Given the description of an element on the screen output the (x, y) to click on. 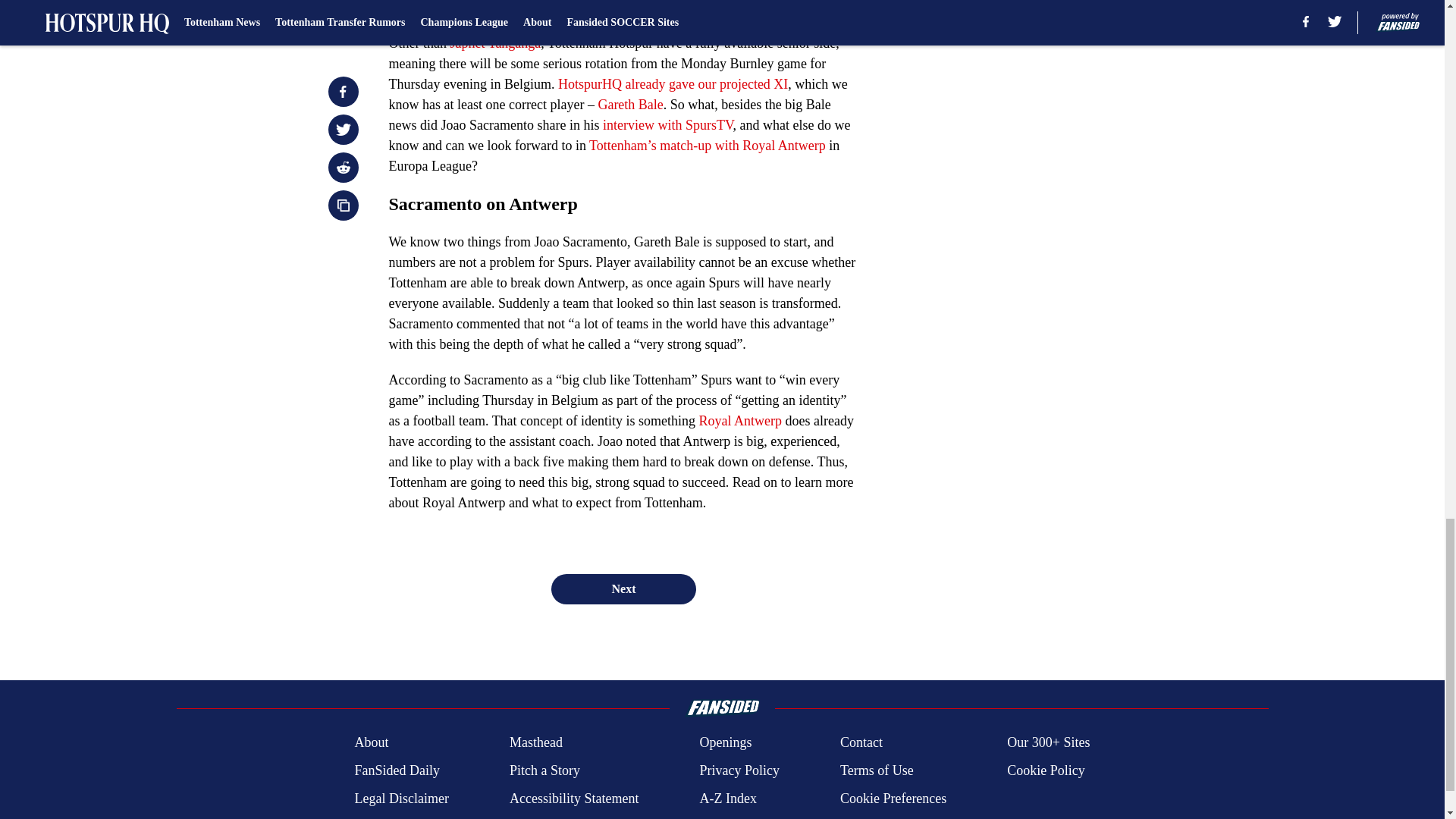
Next (622, 589)
Terms of Use (877, 770)
HotspurHQ already gave our projected XI (672, 83)
Cookie Policy (1045, 770)
Royal Antwerp (740, 420)
A-Z Index (726, 798)
Privacy Policy (738, 770)
FanSided Daily (396, 770)
Masthead (535, 742)
Pitch a Story (544, 770)
Gareth Bale (629, 104)
Japhet Tanganga (494, 43)
Legal Disclaimer (400, 798)
Accessibility Statement (574, 798)
Openings (724, 742)
